Given the description of an element on the screen output the (x, y) to click on. 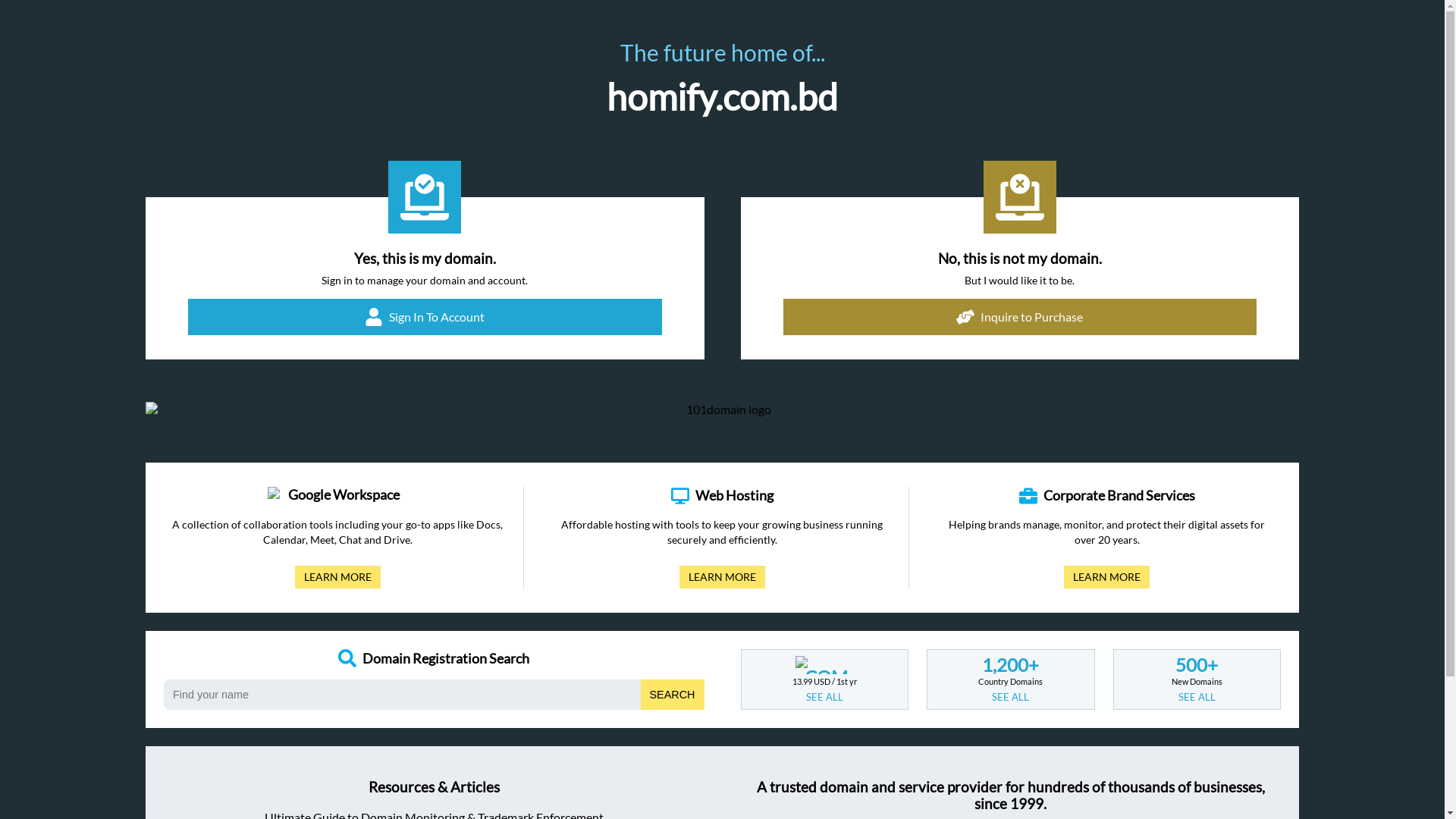
SEE ALL Element type: text (1196, 696)
LEARN MORE Element type: text (722, 576)
Sign In To Account Element type: text (425, 316)
SEE ALL Element type: text (1010, 696)
SEE ALL Element type: text (824, 696)
SEARCH Element type: text (672, 694)
LEARN MORE Element type: text (337, 576)
Inquire to Purchase Element type: text (1019, 316)
LEARN MORE Element type: text (1106, 576)
